Given the description of an element on the screen output the (x, y) to click on. 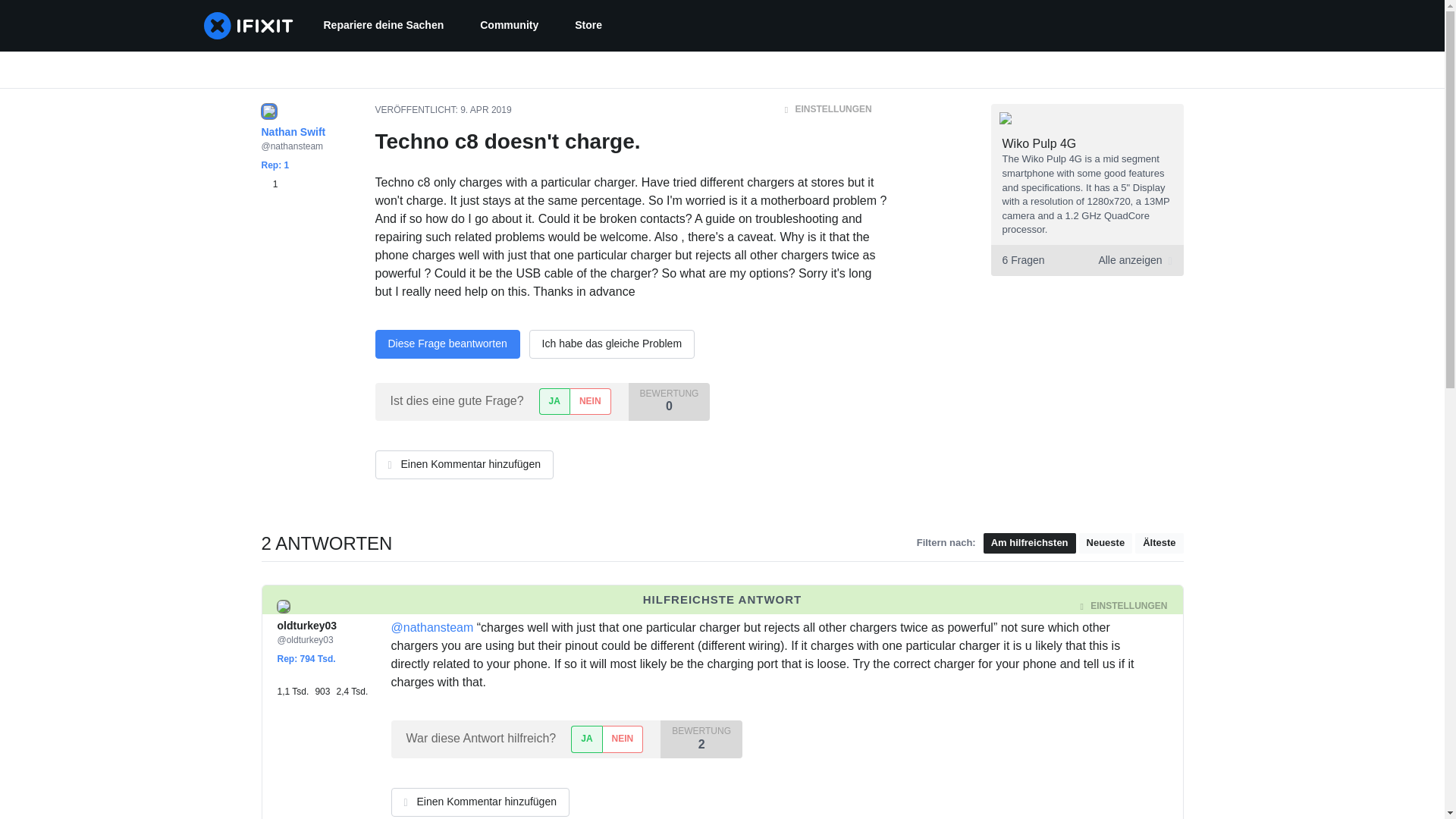
Wiko Pulp 4G (1040, 143)
Tue, 09 Apr 2019 16:54:47 -0700 (501, 606)
Diese Frage beantworten (446, 344)
Ich habe das gleiche Problem (611, 344)
Store (588, 25)
2406 Gold Auszeichnungen (352, 684)
JA (585, 738)
Neueste (1105, 543)
Community (508, 25)
Repariere deine Sachen (382, 25)
